Given the description of an element on the screen output the (x, y) to click on. 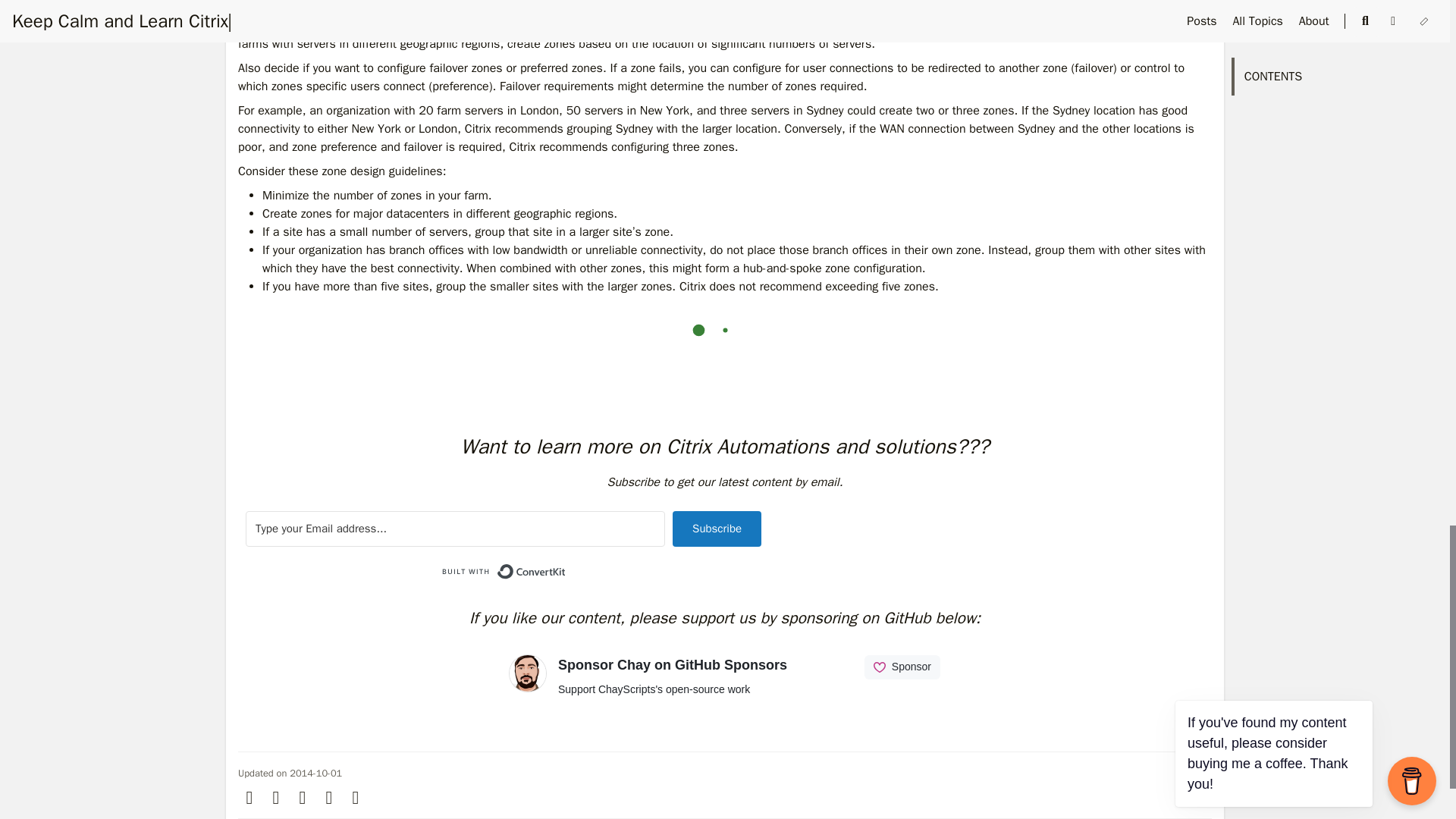
Subscribe (716, 529)
Sponsor ChayScripts (724, 687)
Built with ConvertKit (503, 571)
